Given the description of an element on the screen output the (x, y) to click on. 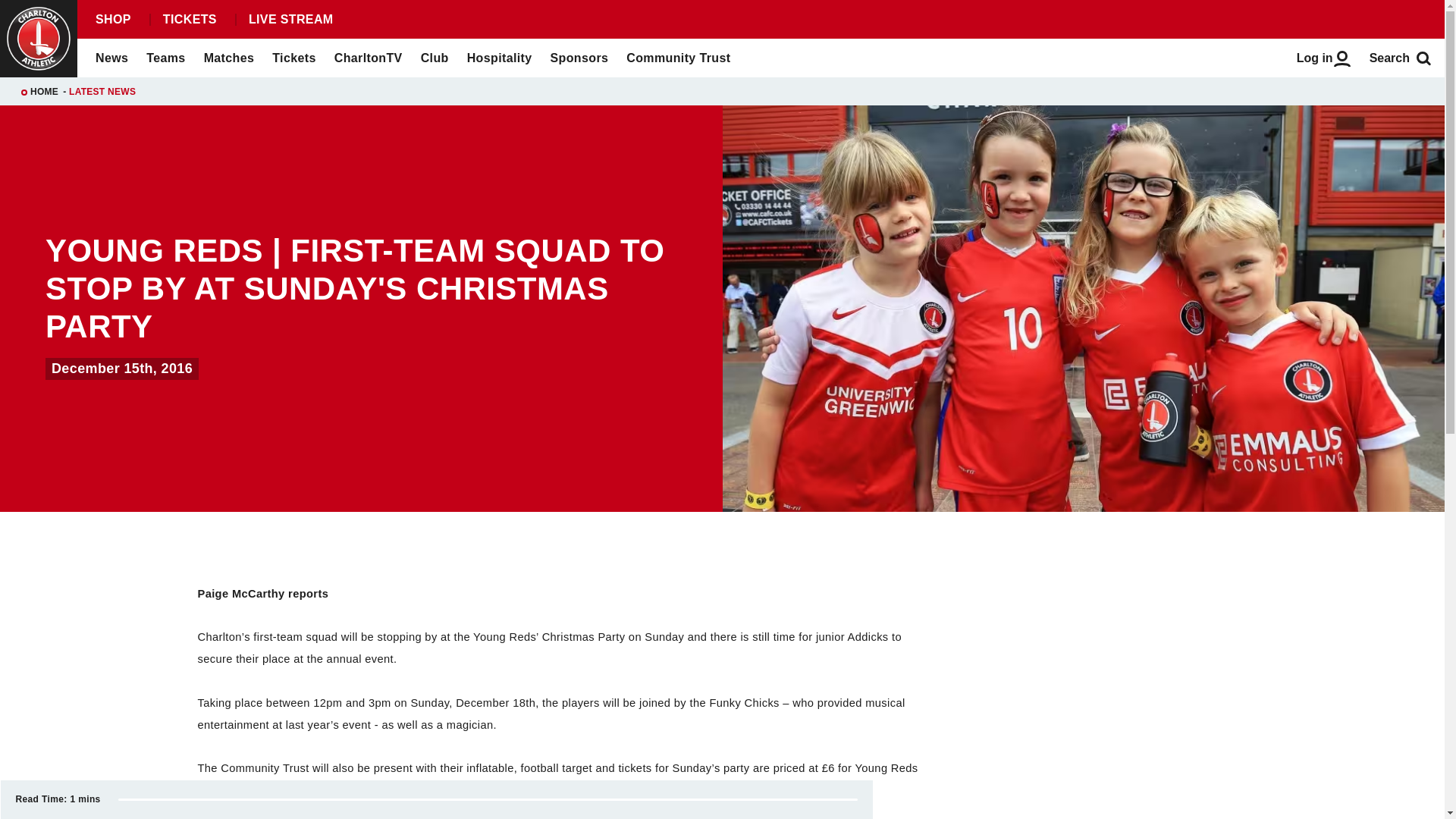
SHOP (112, 19)
Matches (228, 57)
TICKETS (188, 19)
Teams (165, 57)
LIVE STREAM (290, 19)
Teams (165, 57)
